Given the description of an element on the screen output the (x, y) to click on. 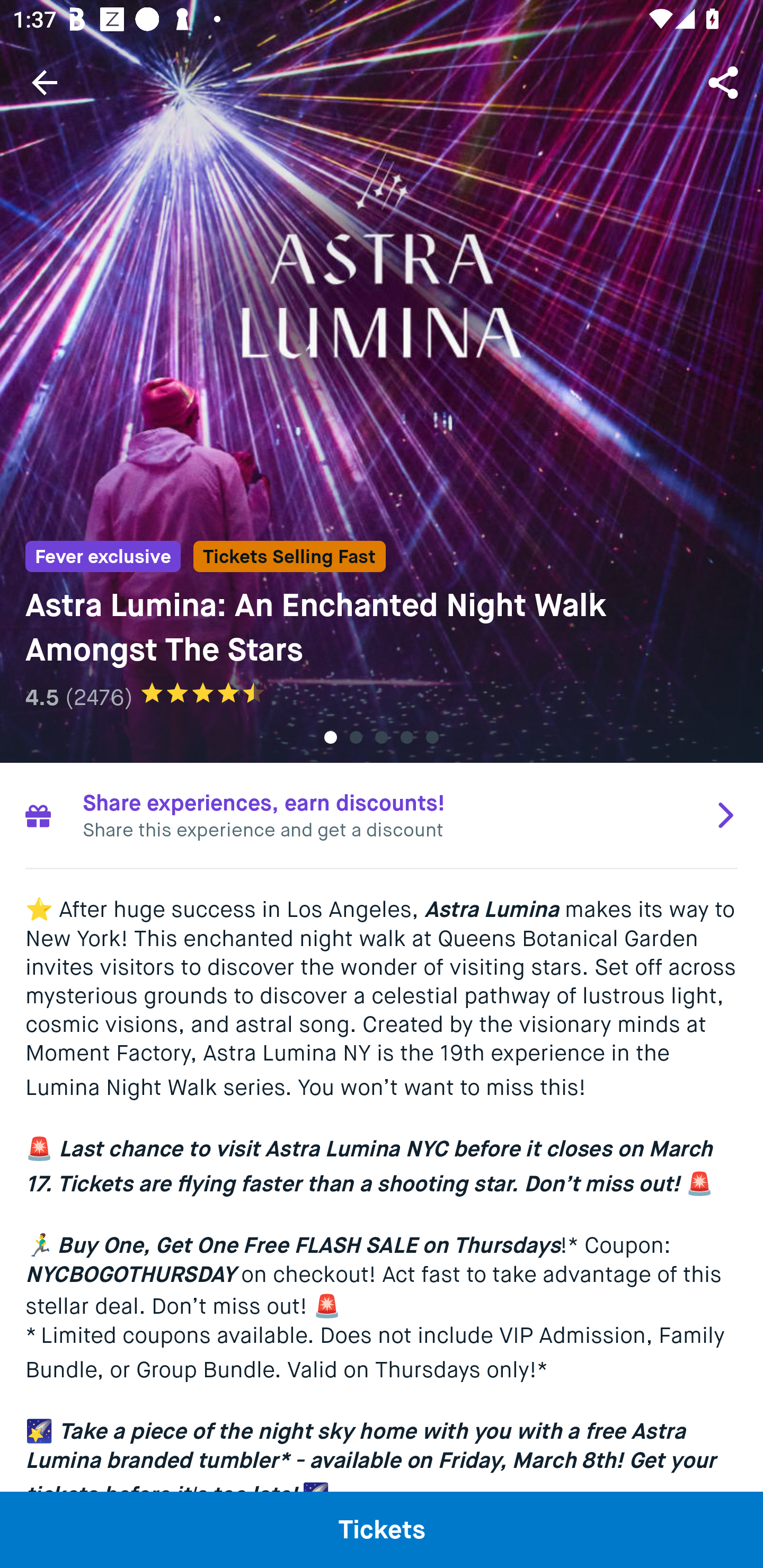
Navigate up (44, 82)
Share (724, 81)
(2476) (98, 697)
Tickets (381, 1529)
